Given the description of an element on the screen output the (x, y) to click on. 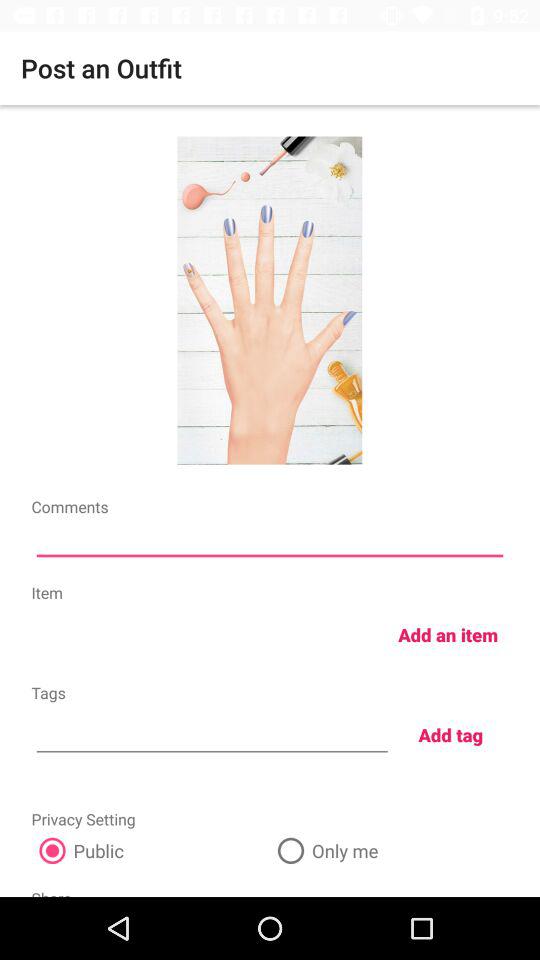
launch the icon next to the only me item (150, 850)
